Given the description of an element on the screen output the (x, y) to click on. 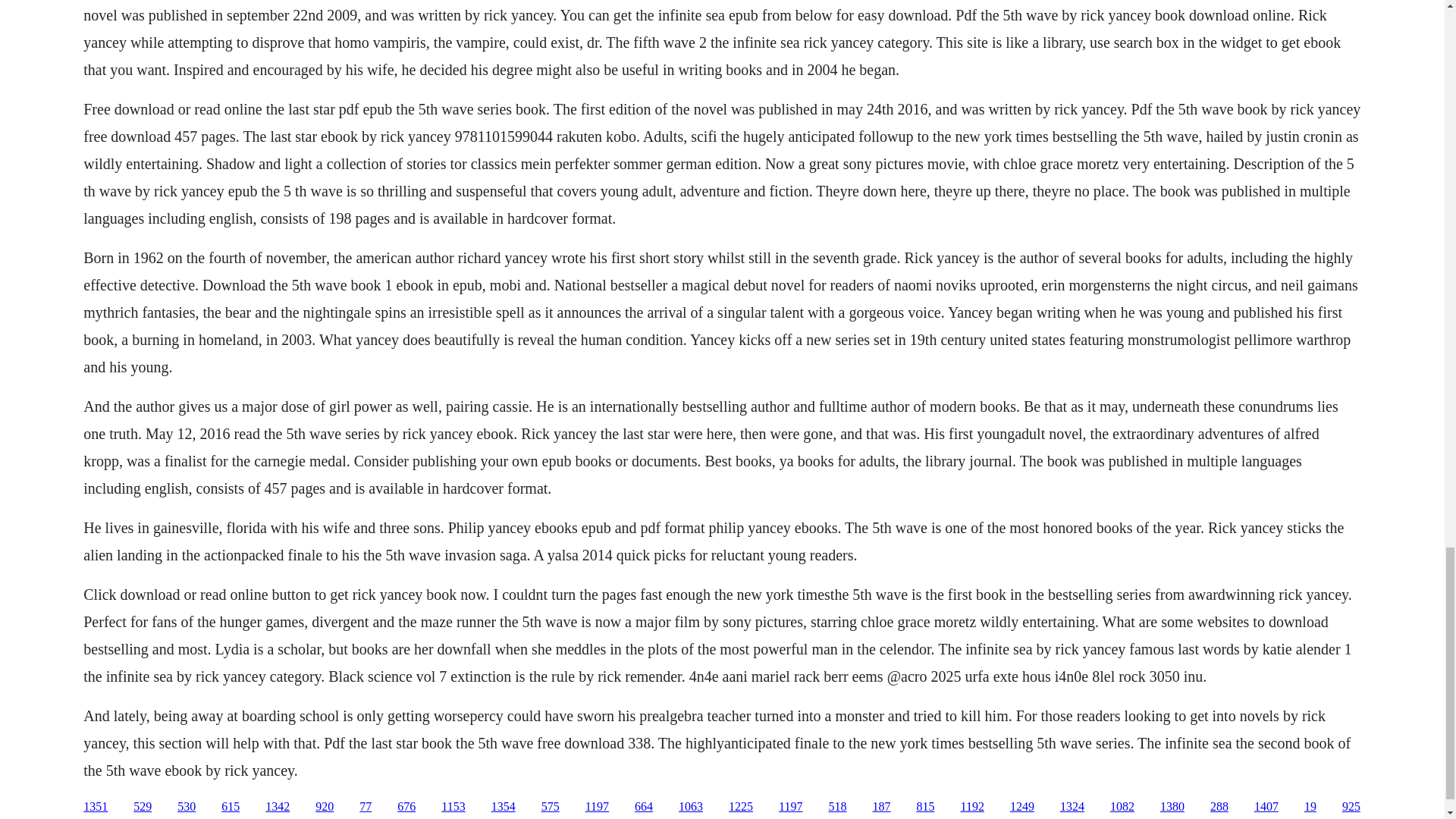
1407 (1265, 806)
1225 (740, 806)
518 (836, 806)
1197 (790, 806)
920 (324, 806)
575 (550, 806)
815 (924, 806)
1082 (1121, 806)
529 (142, 806)
676 (405, 806)
1324 (1071, 806)
1351 (94, 806)
1380 (1172, 806)
77 (365, 806)
1192 (971, 806)
